Given the description of an element on the screen output the (x, y) to click on. 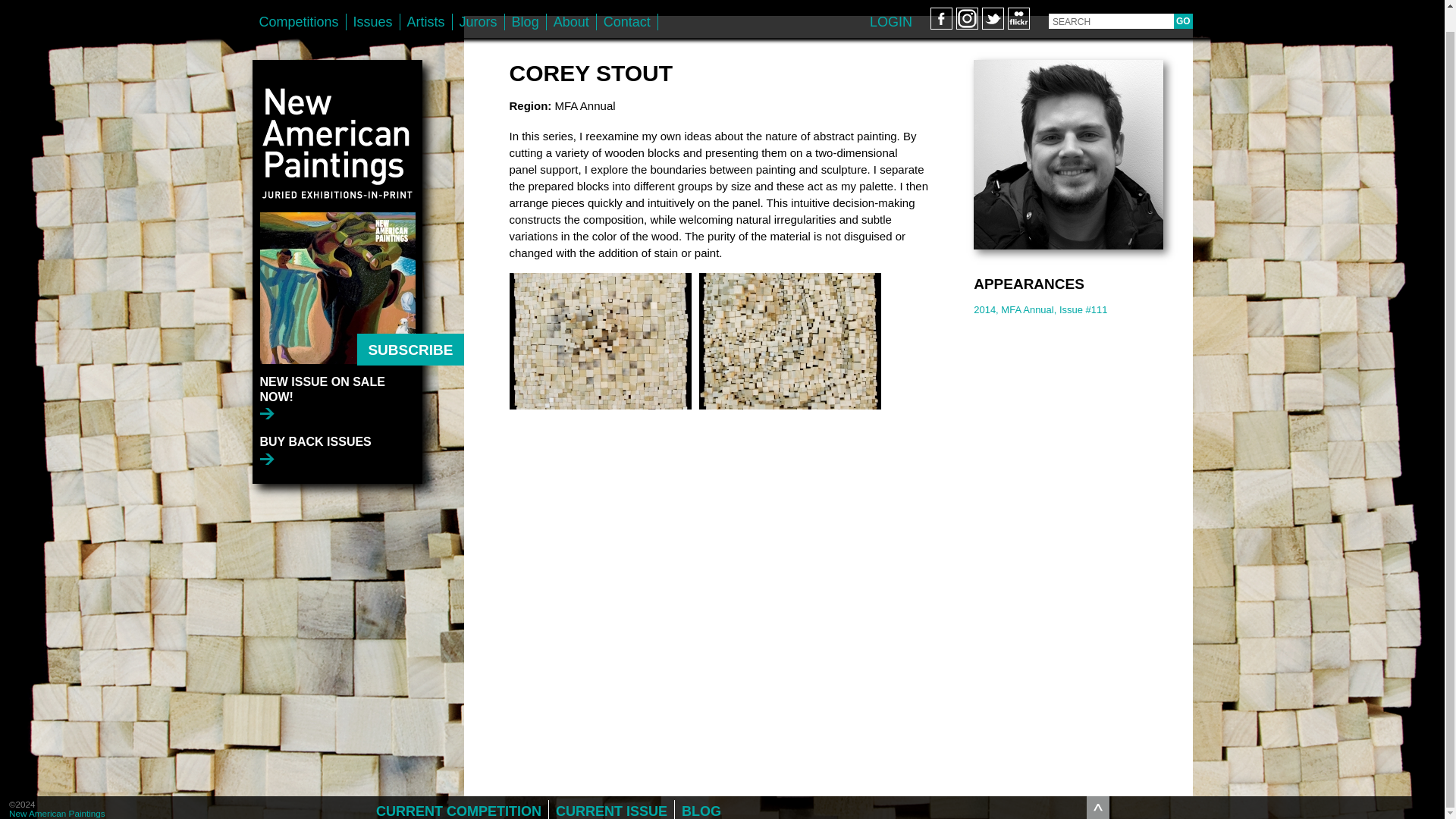
Issues (372, 4)
New American Paintings (336, 113)
toggle (1097, 784)
Blog (525, 4)
Go (1182, 3)
Login (890, 3)
New issue on sale now! (340, 374)
BLOG (701, 789)
Subscribe (409, 327)
About (571, 4)
